Given the description of an element on the screen output the (x, y) to click on. 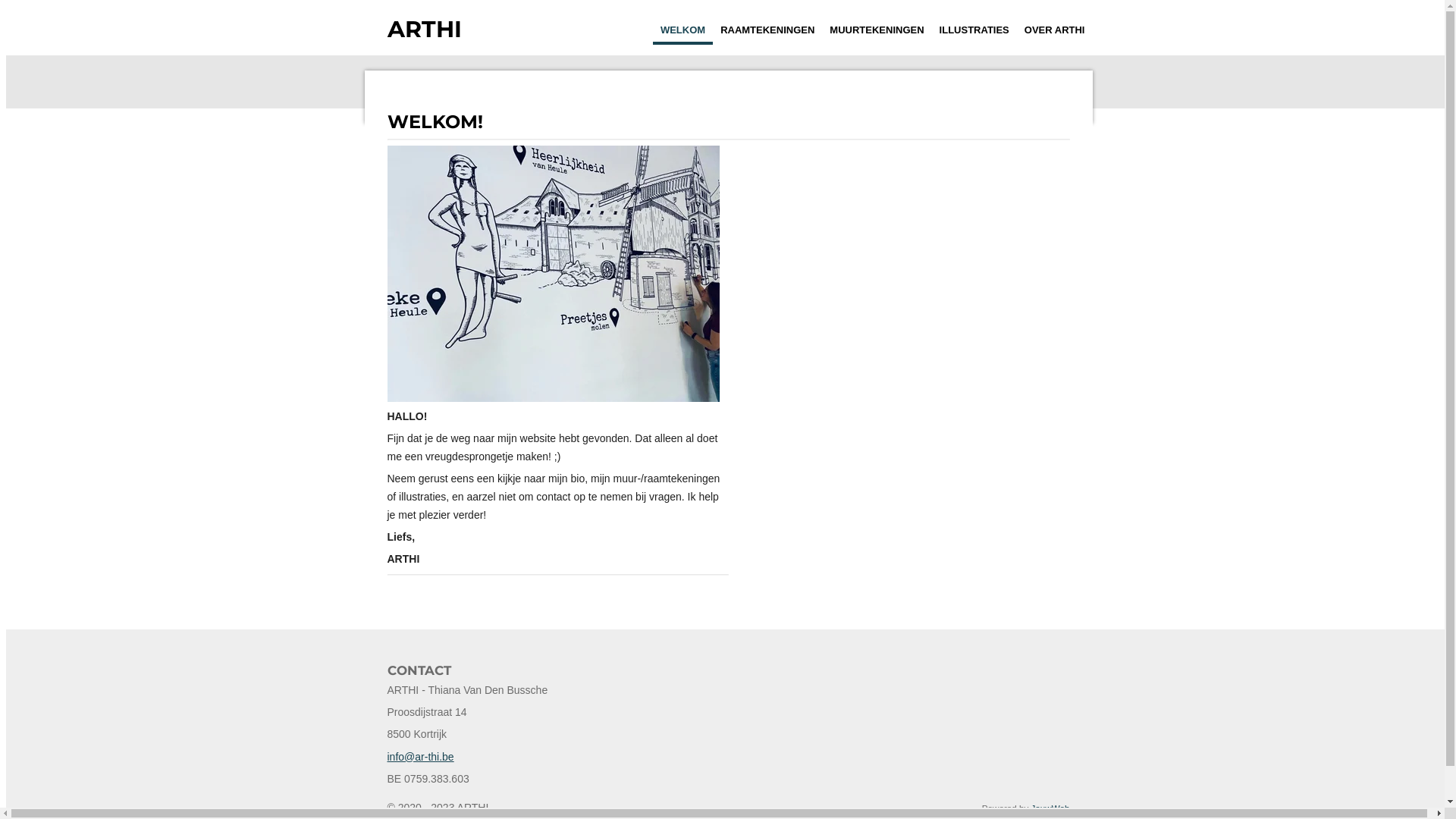
JouwWeb Element type: text (1050, 807)
MUURTEKENINGEN Element type: text (876, 29)
info@ar-thi.be Element type: text (419, 756)
Contacteer mij voor meer info! Element type: text (557, 589)
RAAMTEKENINGEN Element type: text (767, 29)
ILLUSTRATIES Element type: text (973, 29)
WELKOM Element type: text (682, 29)
OVER ARTHI Element type: text (1054, 29)
